Given the description of an element on the screen output the (x, y) to click on. 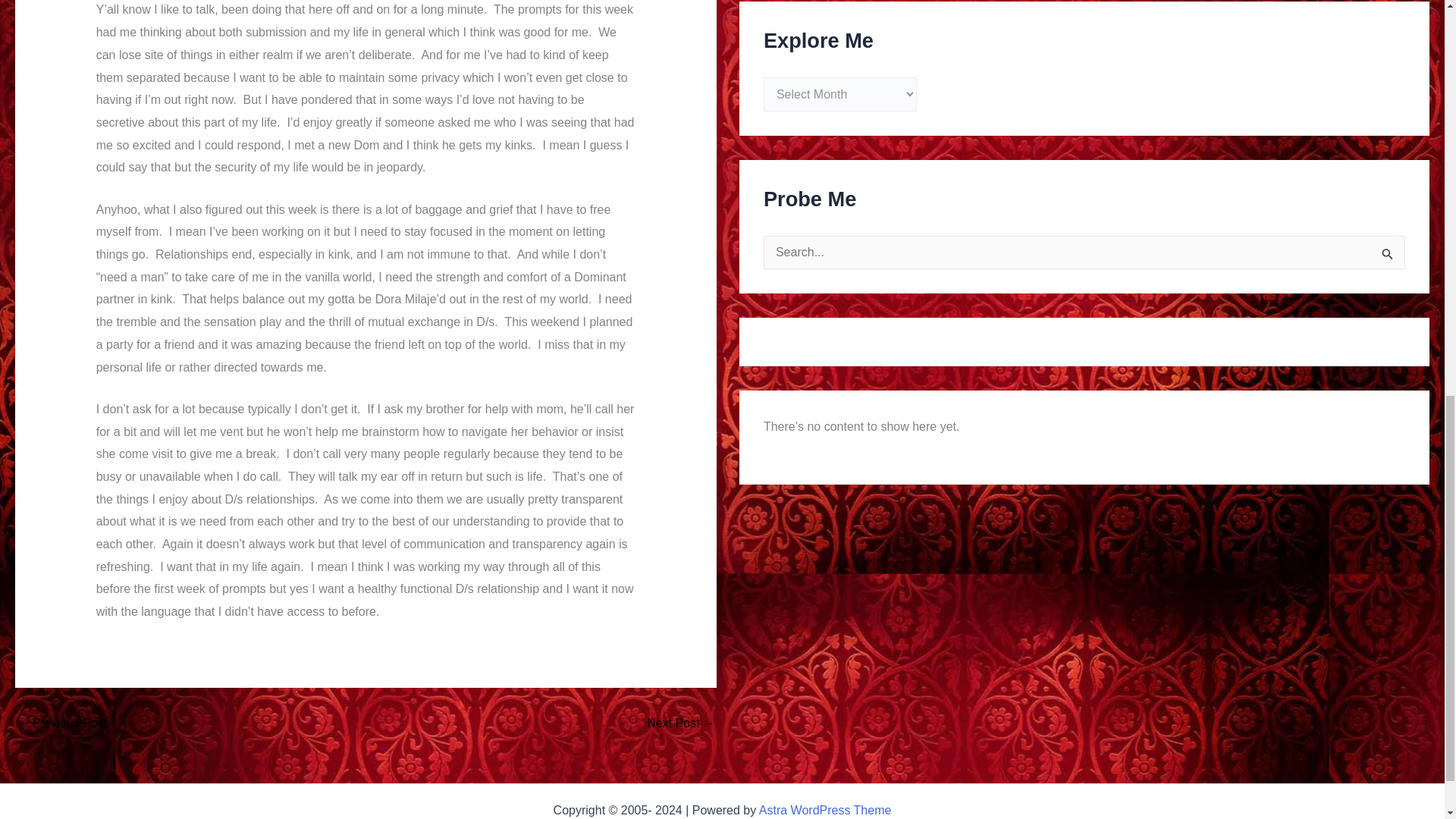
Search (1388, 256)
Search (1388, 256)
Astra WordPress Theme (824, 809)
Search (1388, 256)
Sunday Afternoon, Rain Is Falling: Prompt 7 (61, 723)
